Given the description of an element on the screen output the (x, y) to click on. 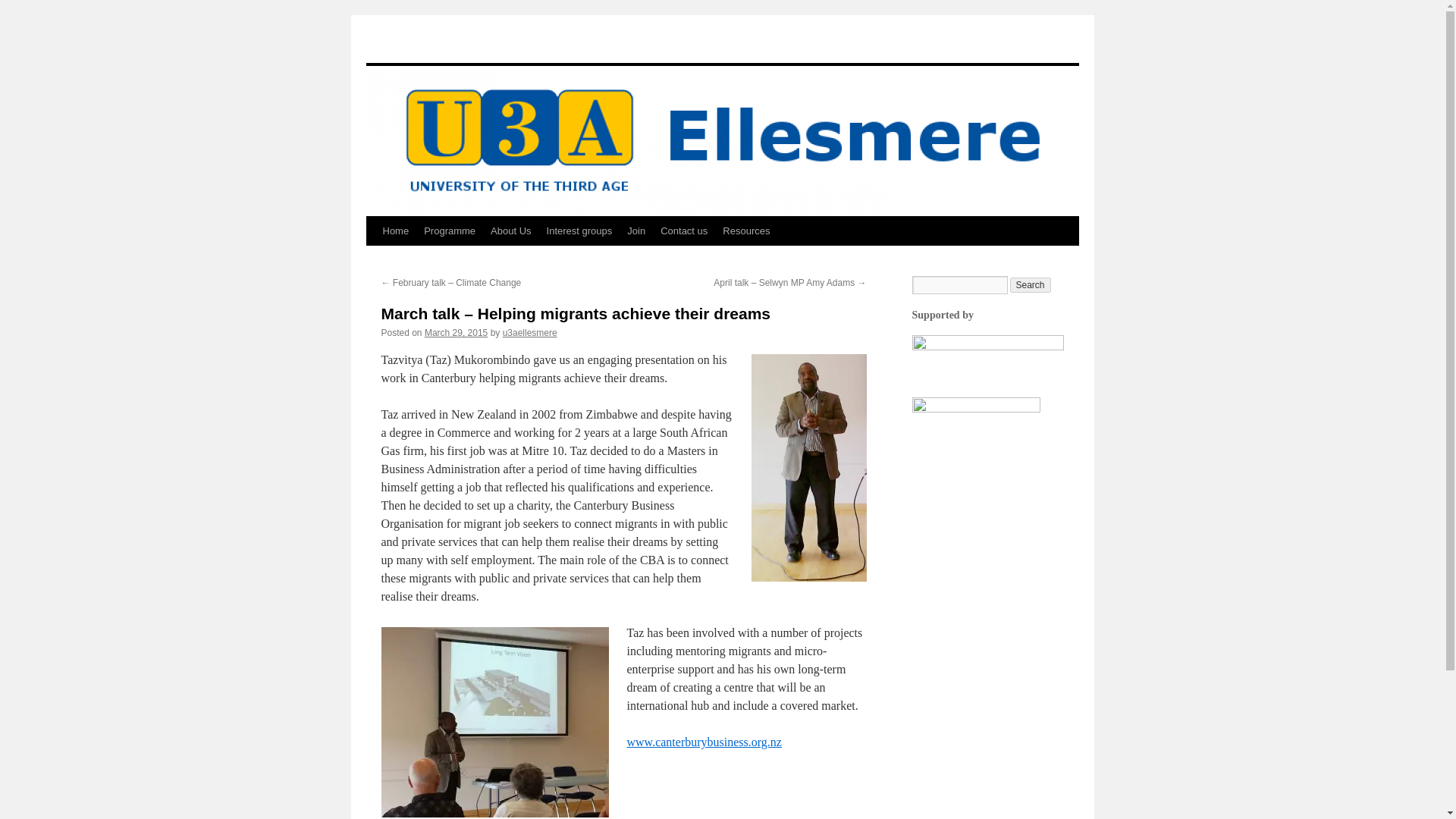
About Us (510, 231)
Join (636, 231)
Search (1030, 284)
5:00 am (456, 332)
Interest groups (579, 231)
March 29, 2015 (456, 332)
View all posts by u3aellesmere (529, 332)
Search (1030, 284)
Home (395, 231)
Contact us (683, 231)
Programme (449, 231)
u3aellesmere (529, 332)
Resources (745, 231)
www.canterburybusiness.org.nz (703, 741)
